Given the description of an element on the screen output the (x, y) to click on. 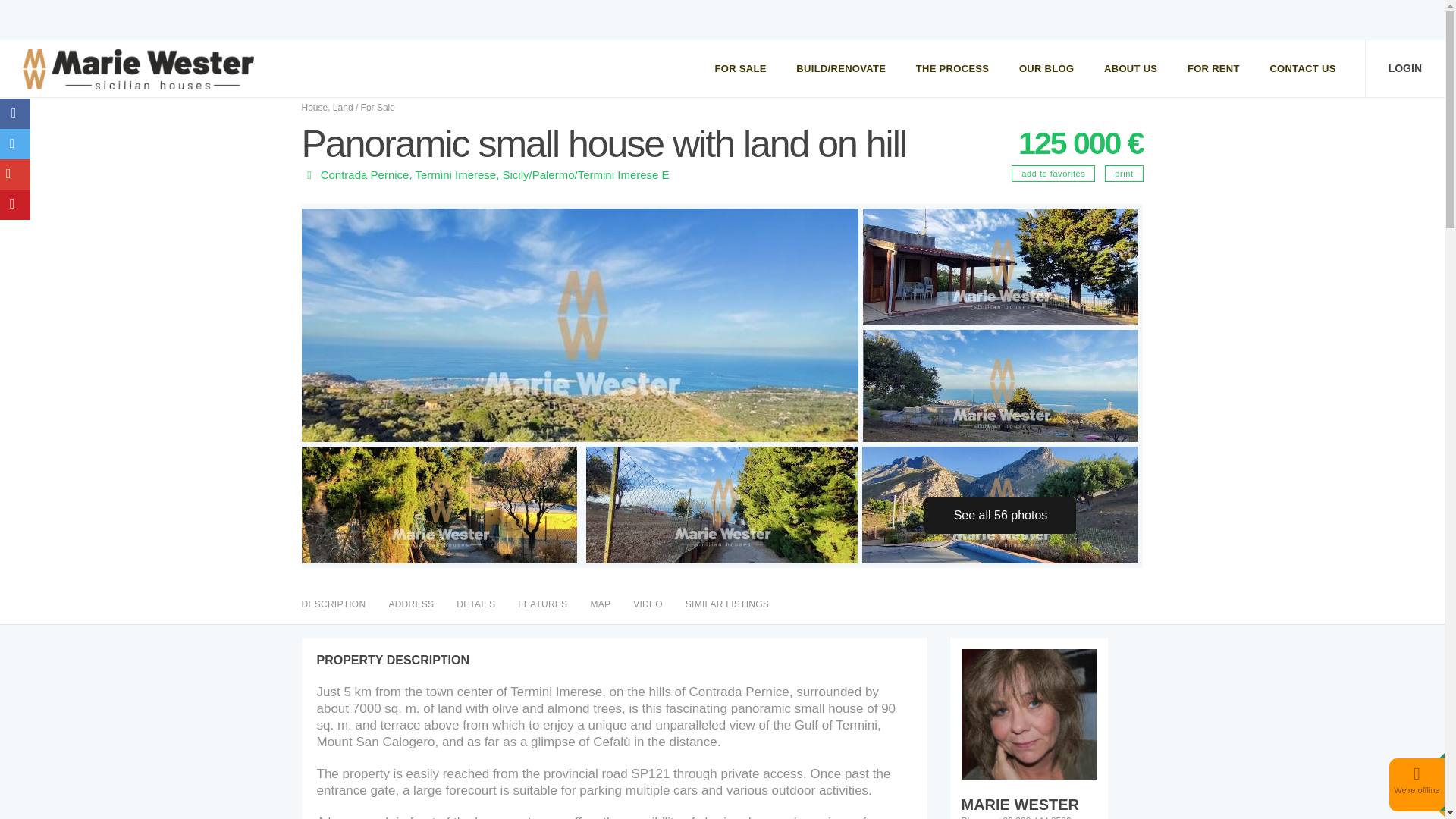
DESCRIPTION (333, 603)
Termini Imerese (455, 174)
OUR BLOG (1046, 68)
FOR RENT (1213, 68)
THE PROCESS (952, 68)
We're offline (1417, 789)
House (315, 107)
ABOUT US (1130, 68)
Land (343, 107)
For Sale (377, 107)
FOR SALE (740, 68)
English (1382, 26)
CONTACT US (1302, 68)
